Given the description of an element on the screen output the (x, y) to click on. 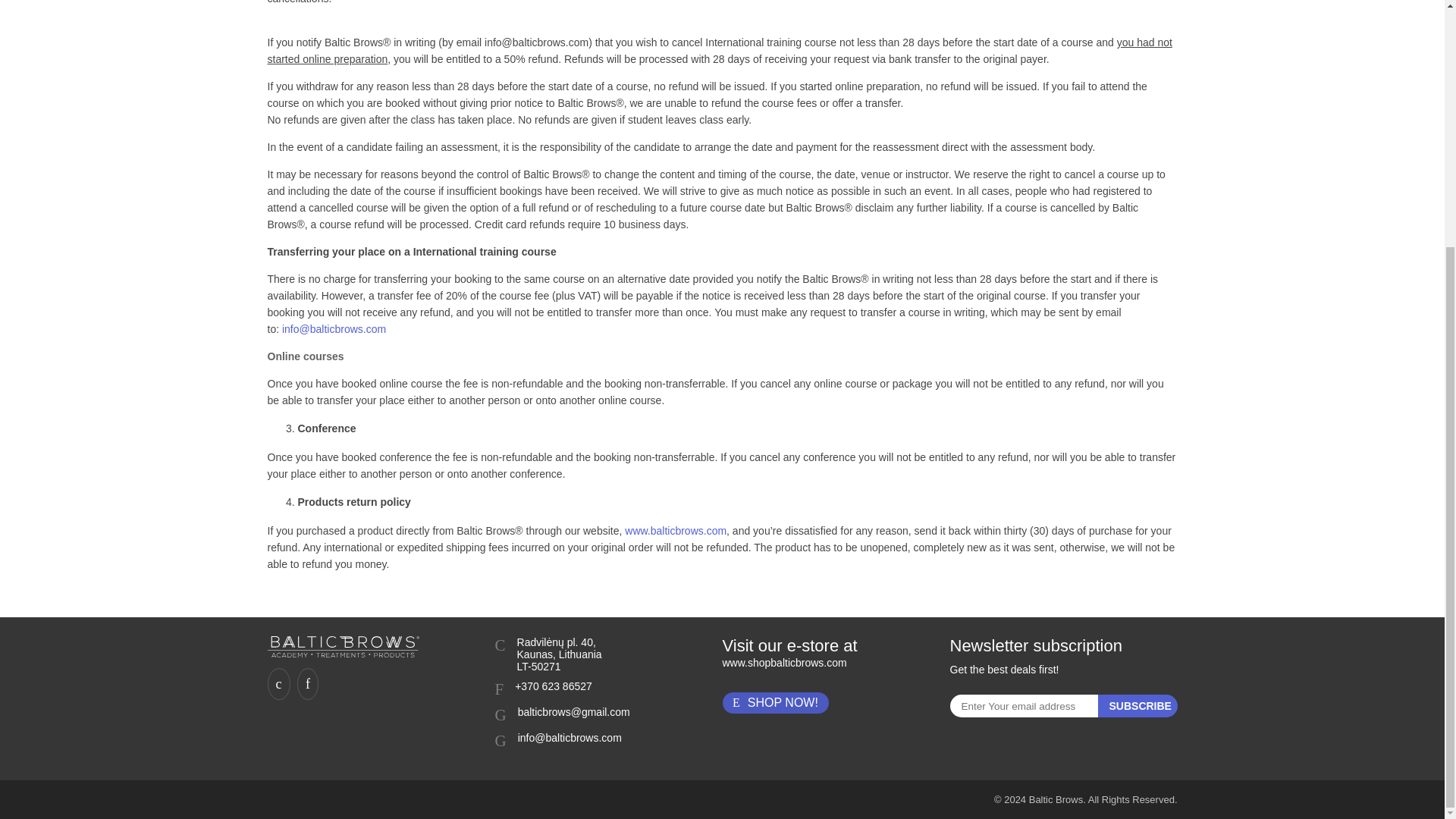
Subscribe (1137, 705)
